Given the description of an element on the screen output the (x, y) to click on. 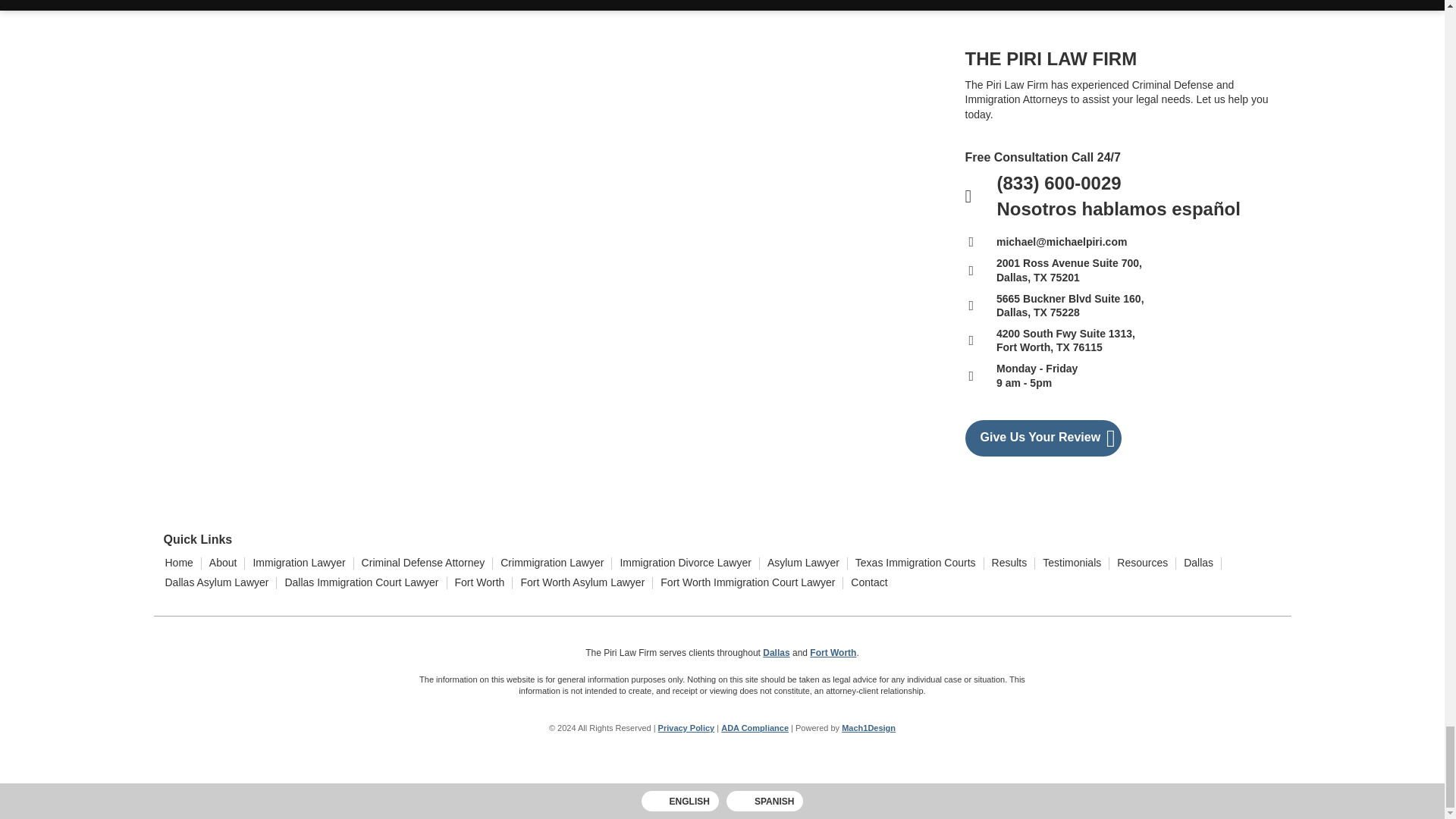
The Piri Law Firm, 2001 Ross Avenue, Dallas, TX (347, 162)
